Given the description of an element on the screen output the (x, y) to click on. 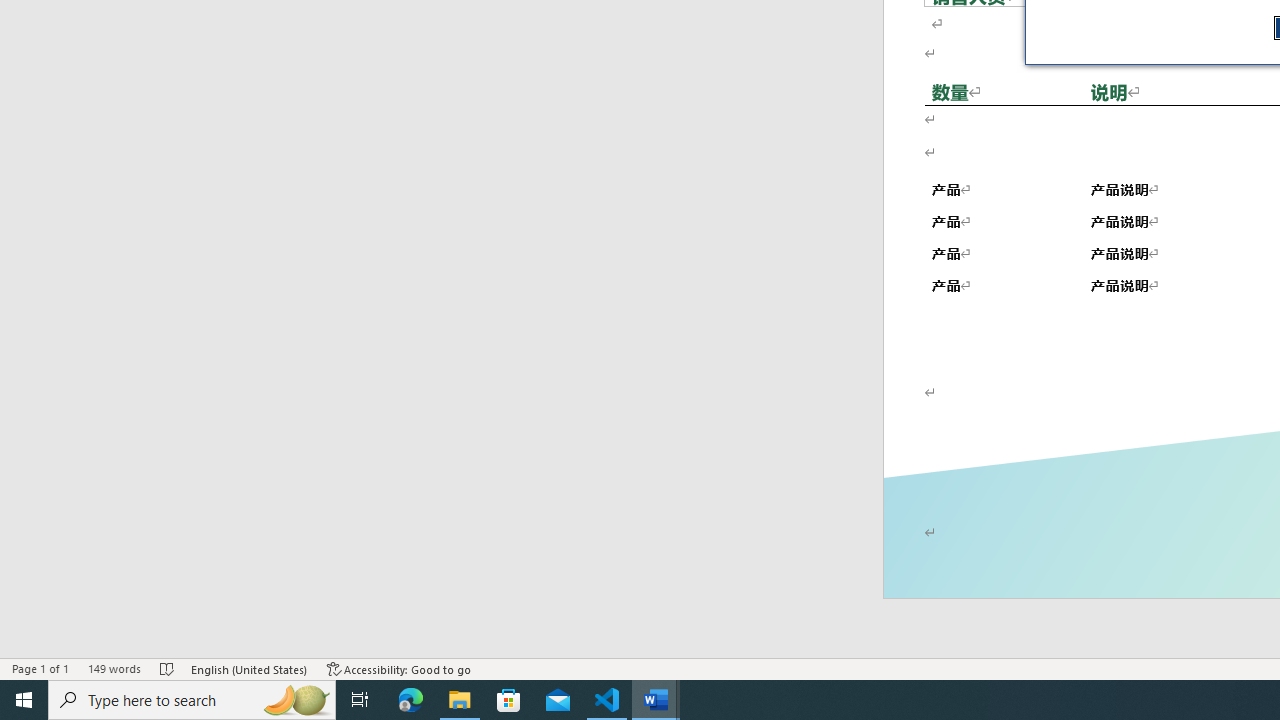
Microsoft Edge (411, 699)
Page Number Page 1 of 1 (39, 668)
Word - 2 running windows (656, 699)
Spelling and Grammar Check No Errors (168, 668)
